Given the description of an element on the screen output the (x, y) to click on. 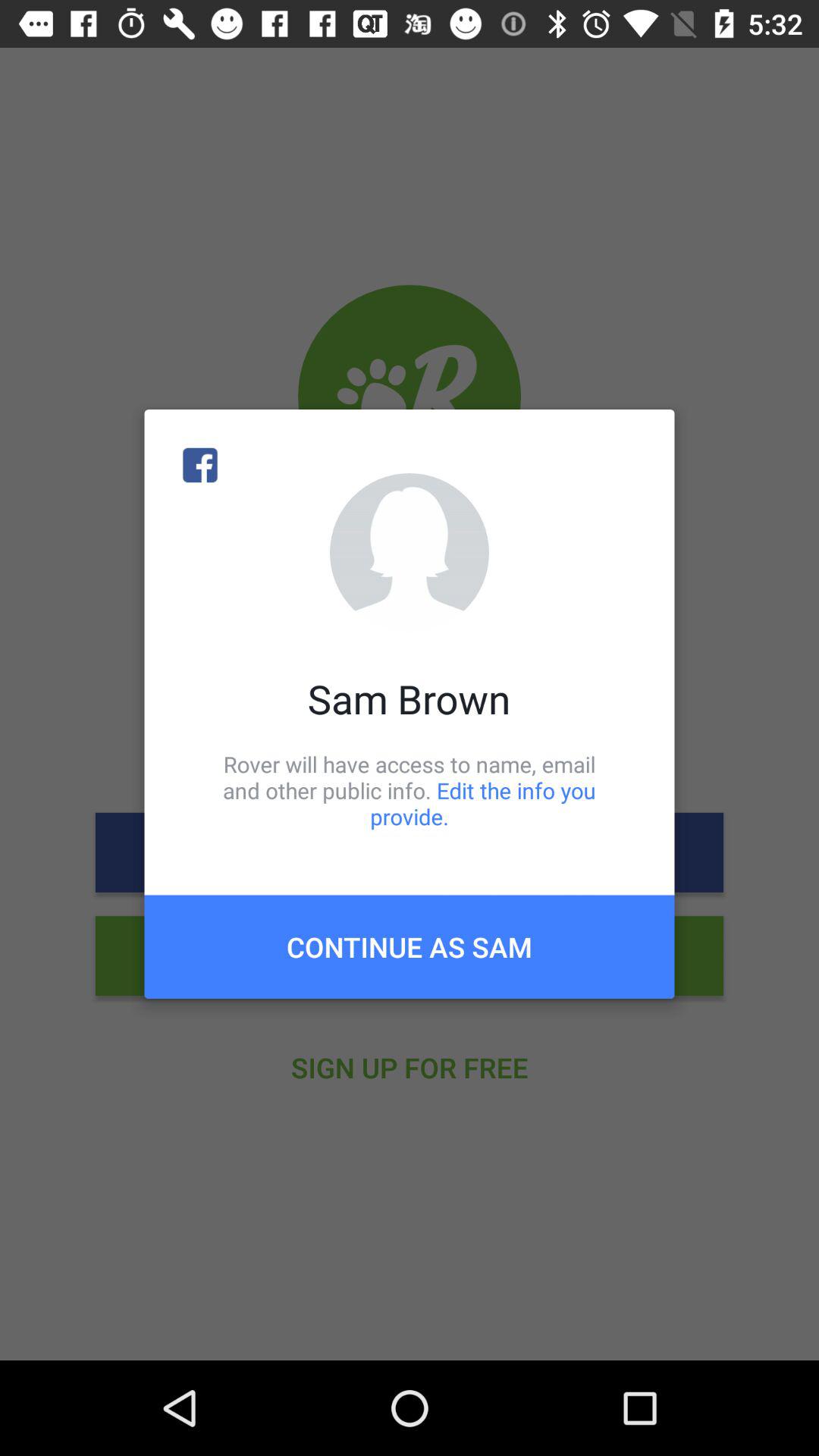
open item above the continue as sam item (409, 790)
